Given the description of an element on the screen output the (x, y) to click on. 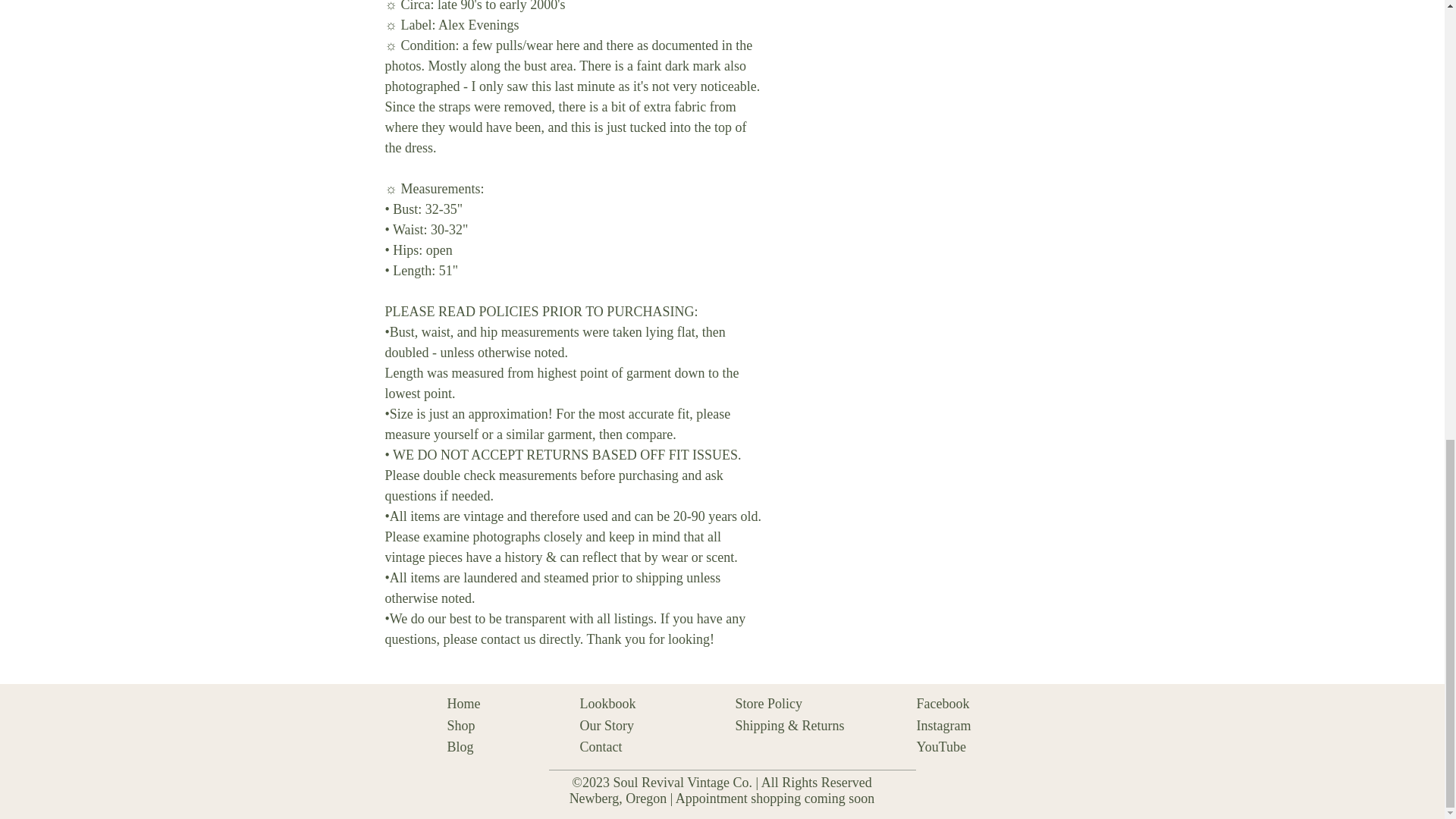
Our Story (606, 725)
Blog (460, 746)
Store Policy (769, 703)
Home (463, 703)
Contact (600, 746)
Lookbook (606, 703)
Shop (461, 725)
